Given the description of an element on the screen output the (x, y) to click on. 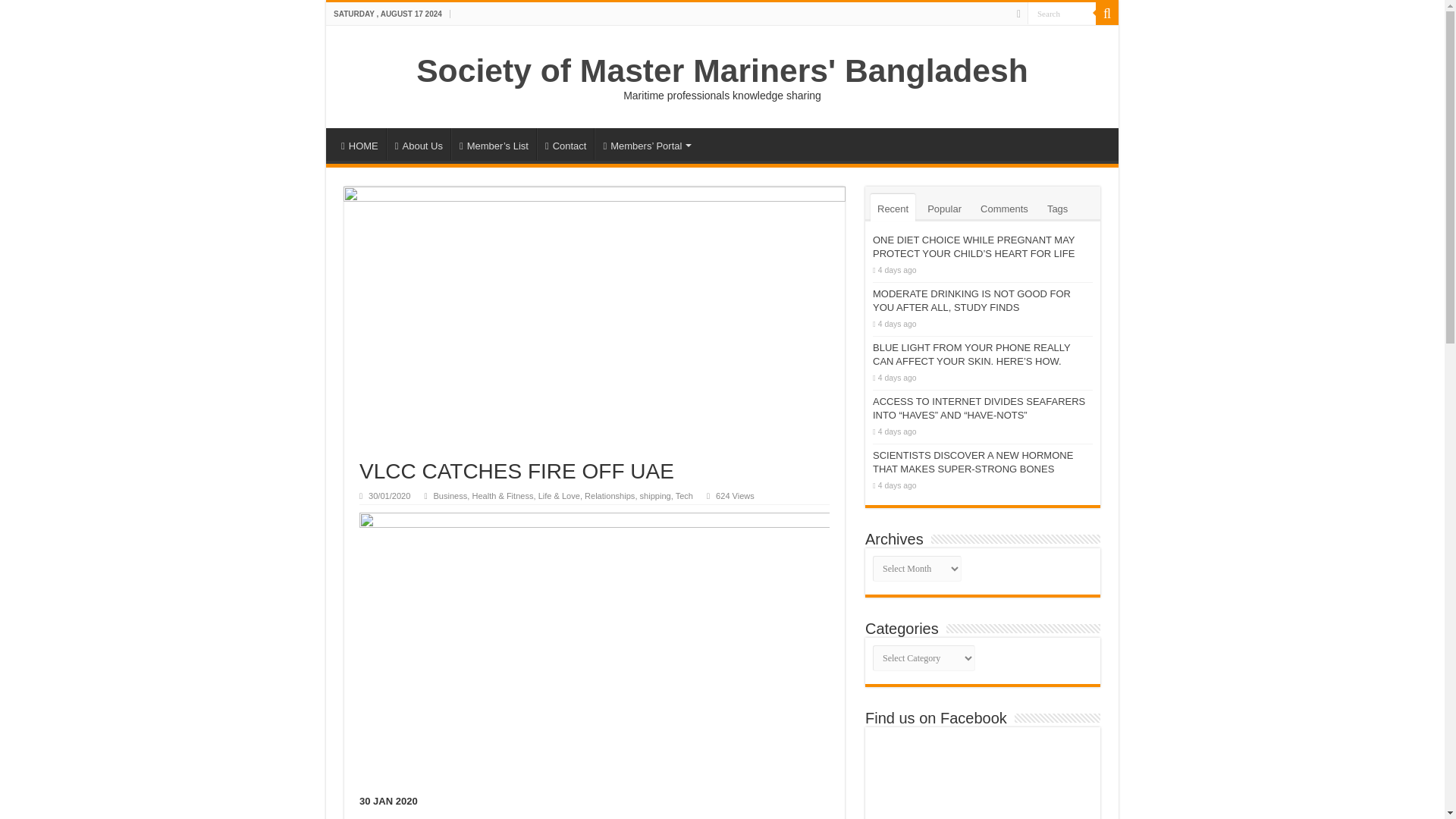
Search (1061, 13)
Recent (892, 207)
Business (449, 495)
Search (1107, 13)
Search (1061, 13)
About Us (418, 143)
Tags (1057, 207)
Contact (565, 143)
Relationships (609, 495)
Tech (684, 495)
